Given the description of an element on the screen output the (x, y) to click on. 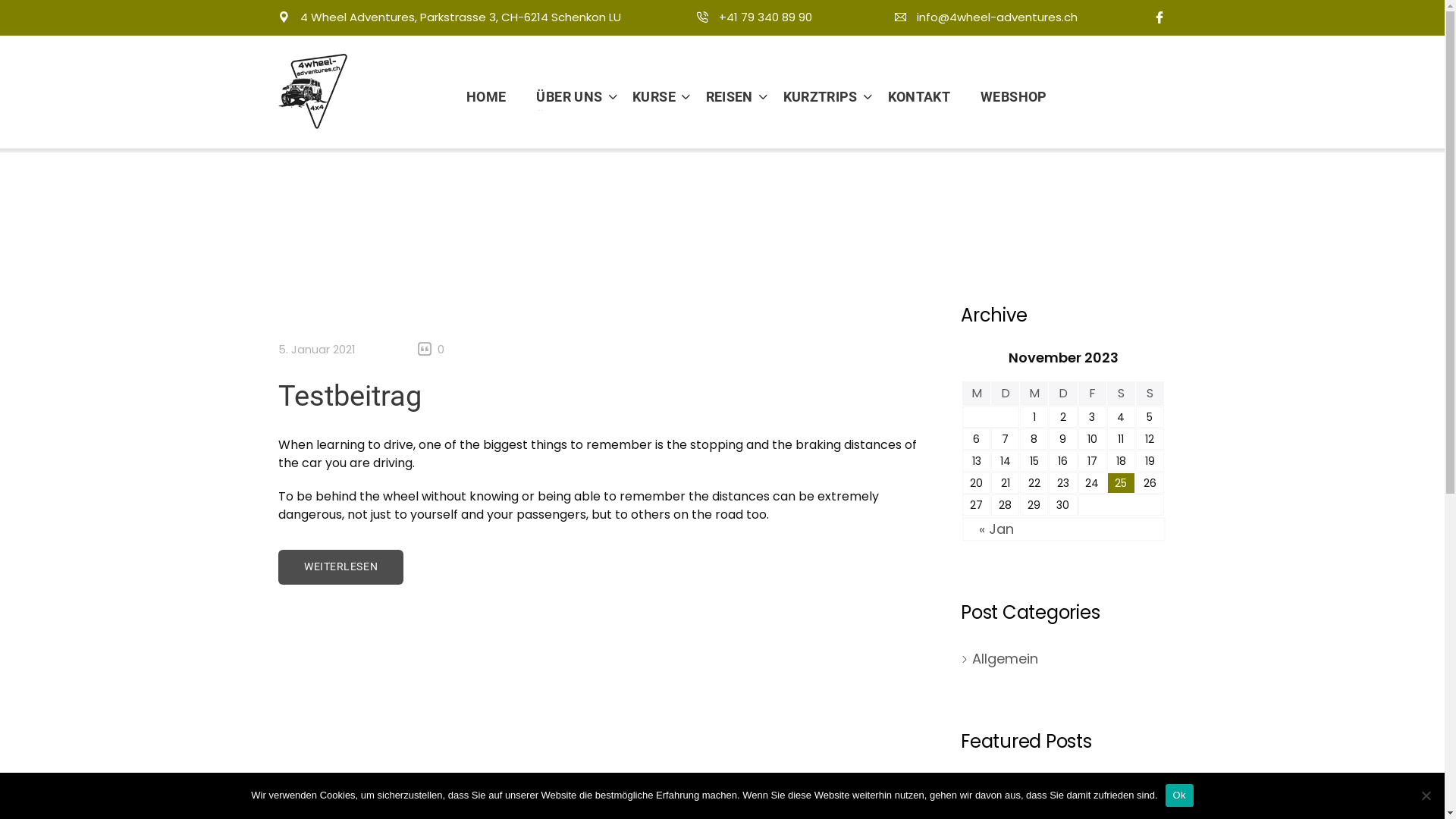
KONTAKT Element type: text (919, 96)
Testbeitrag Element type: text (349, 395)
HOME Element type: text (493, 96)
No Element type: hover (1425, 795)
REISEN Element type: text (723, 96)
Allgemein Element type: text (1005, 658)
+41 79 340 89 90 Element type: text (754, 17)
KURZTRIPS Element type: text (814, 96)
info@4wheel-adventures.ch Element type: text (985, 17)
5. Januar 2021 Element type: text (316, 349)
KURSE Element type: text (647, 96)
5. Januar 2021 Element type: text (999, 795)
Ok Element type: text (1179, 795)
WEITERLESEN Element type: text (340, 566)
WEBSHOP Element type: text (1006, 96)
4 Wheel Adventures, Parkstrasse 3, CH-6214 Schenkon LU Element type: text (460, 17)
